Given the description of an element on the screen output the (x, y) to click on. 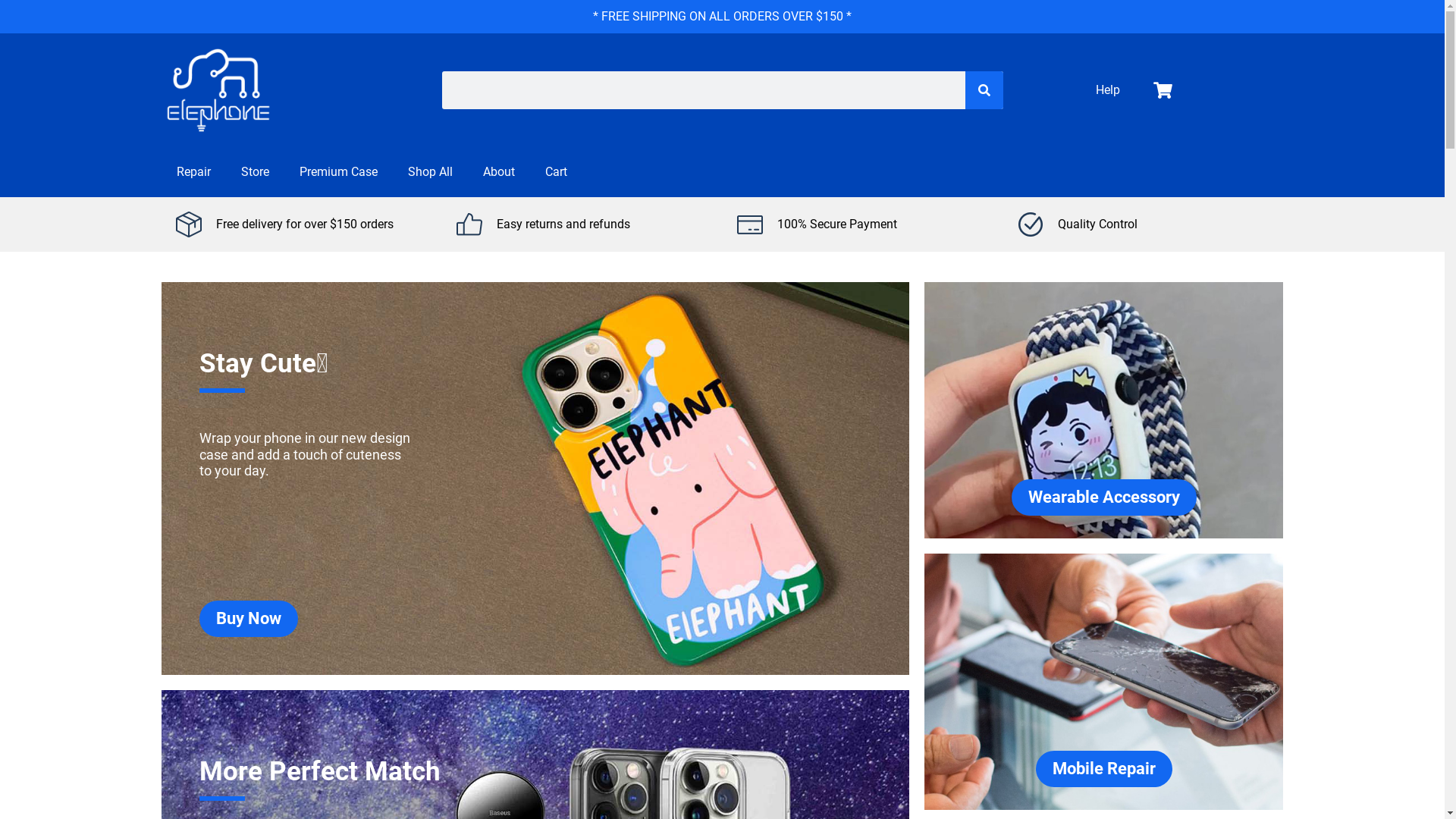
About Element type: text (498, 171)
Repair Element type: text (192, 171)
Elephone_Logo_White_180x Element type: hover (217, 90)
Wearable Accessory Element type: text (1103, 497)
Shop All Element type: text (429, 171)
Premium Case Element type: text (337, 171)
Buy Now Element type: text (247, 618)
Cart Element type: text (555, 171)
Mobile Repair Element type: text (1103, 768)
Help Element type: text (1107, 90)
Store Element type: text (254, 171)
